Given the description of an element on the screen output the (x, y) to click on. 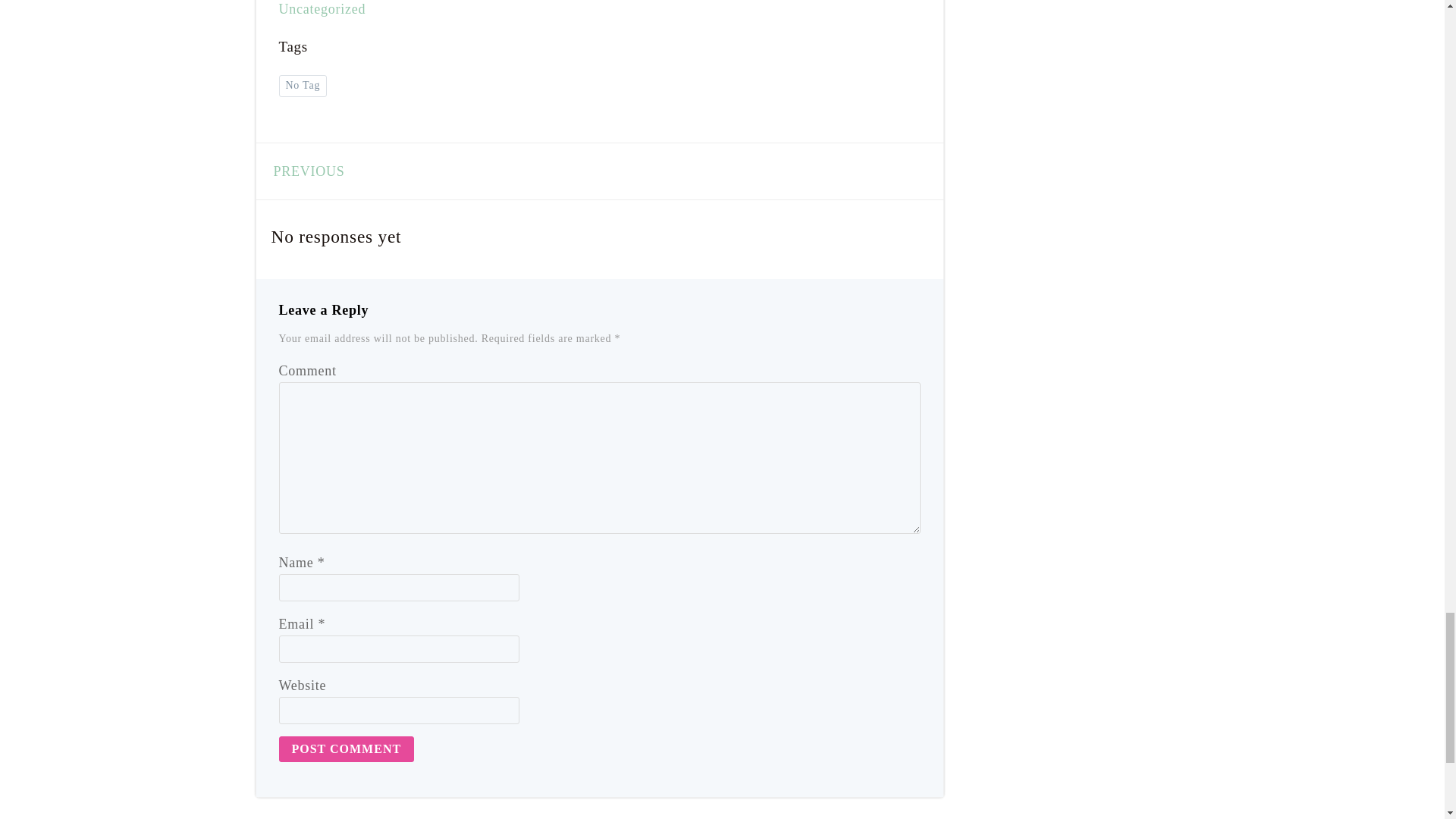
Uncategorized (322, 9)
PREVIOUS (303, 171)
Post Comment (346, 749)
Post Comment (346, 749)
